Given the description of an element on the screen output the (x, y) to click on. 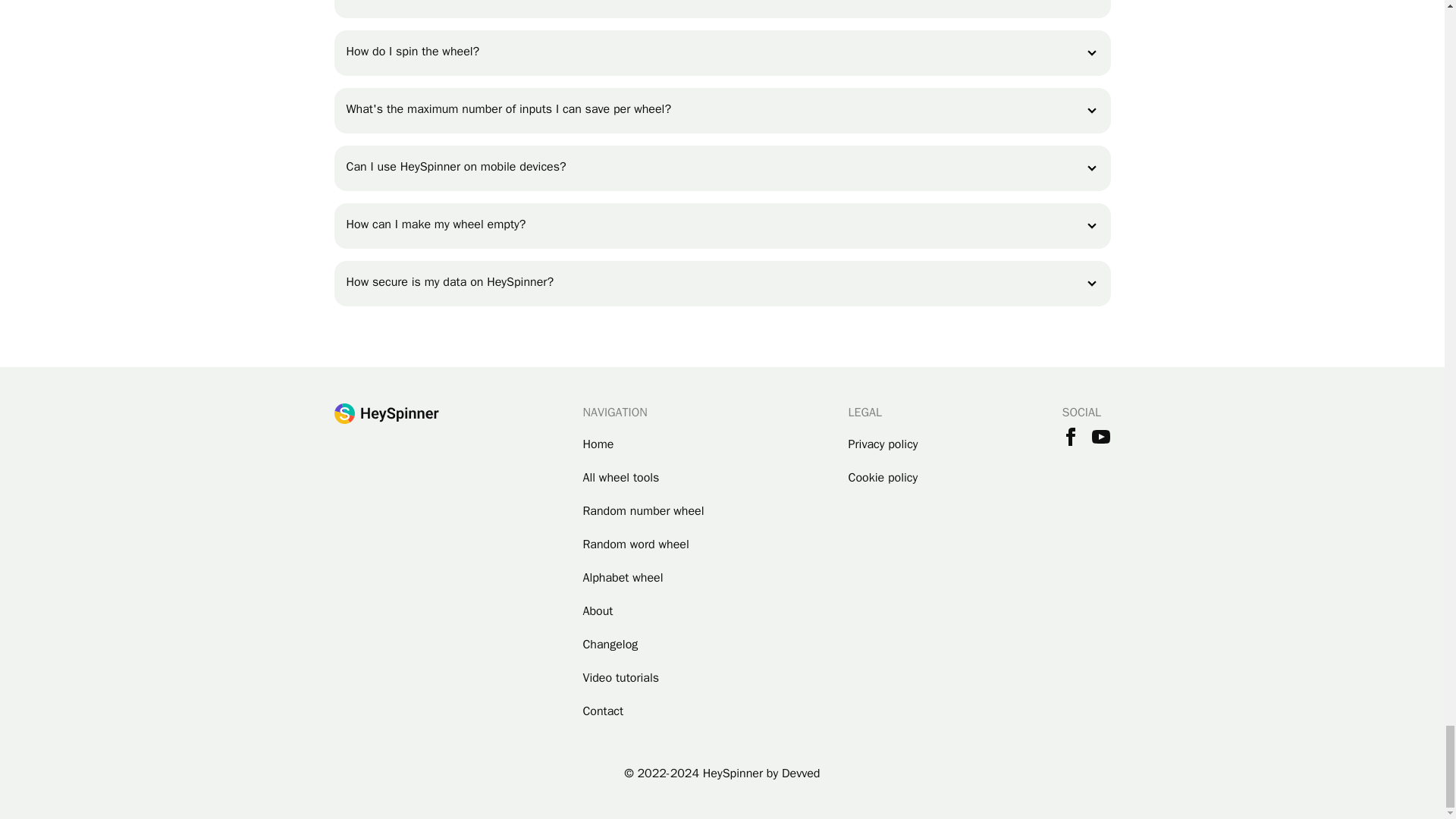
Home (642, 444)
All wheel tools (642, 477)
